Given the description of an element on the screen output the (x, y) to click on. 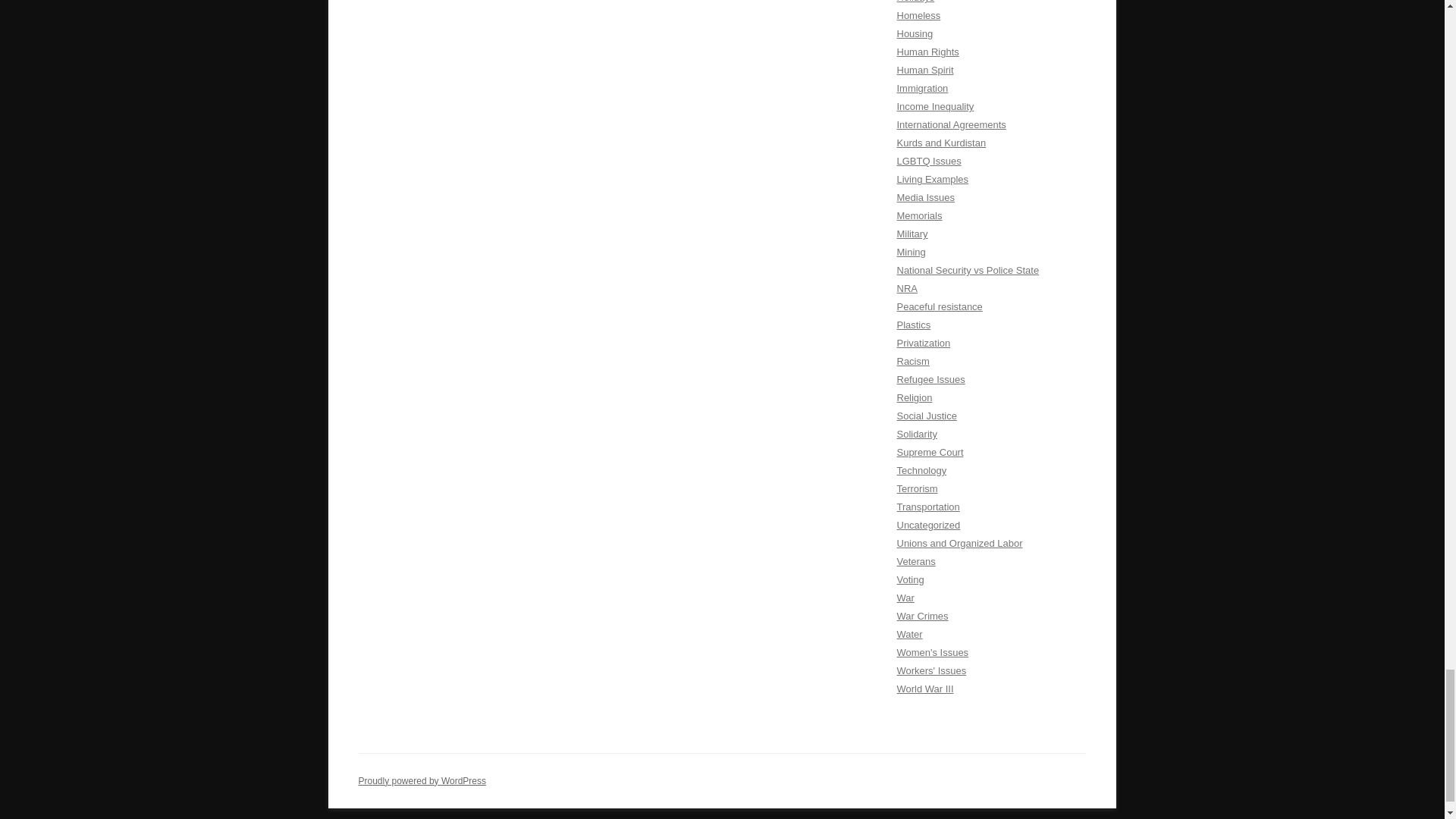
Semantic Personal Publishing Platform (422, 780)
